Given the description of an element on the screen output the (x, y) to click on. 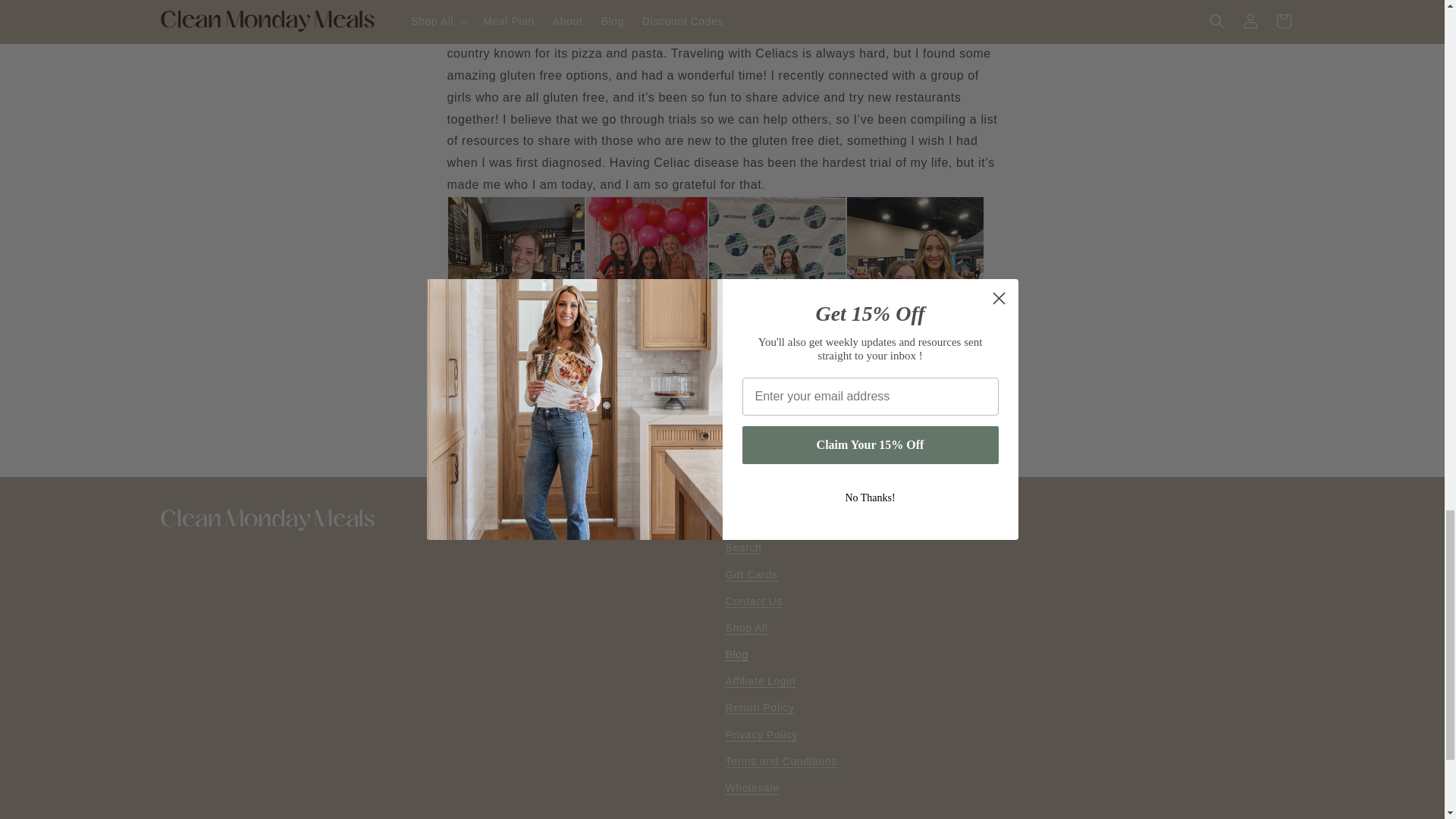
Gift Cards (751, 574)
Search (743, 549)
